Given the description of an element on the screen output the (x, y) to click on. 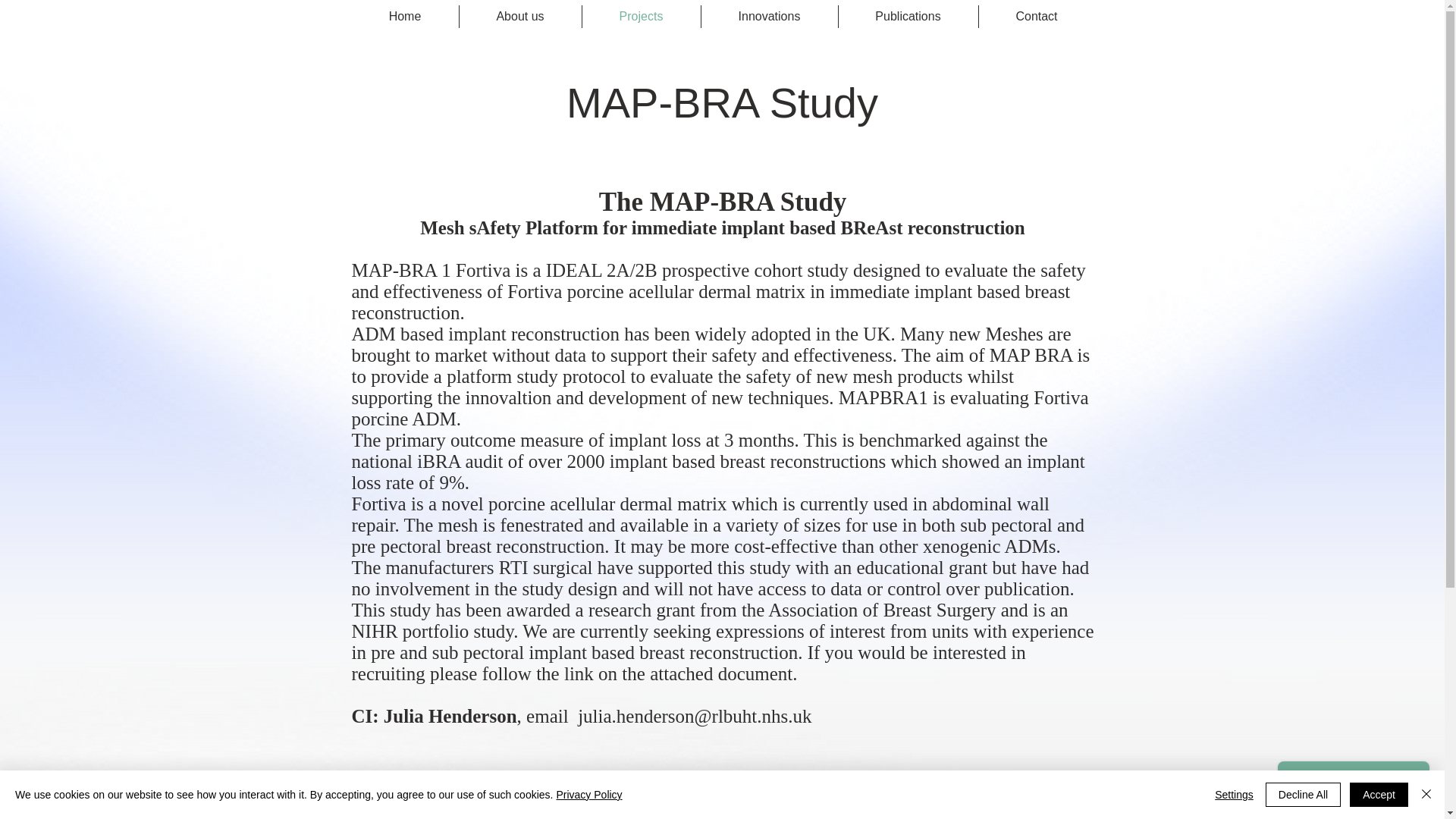
Publications (908, 15)
About us (520, 15)
Accept (1378, 794)
Contact (1036, 15)
MAP-BRA Trial Synopsis (474, 812)
Projects (641, 15)
Home (405, 15)
Privacy Policy (588, 794)
Decline All (1302, 794)
Innovations (768, 15)
